Given the description of an element on the screen output the (x, y) to click on. 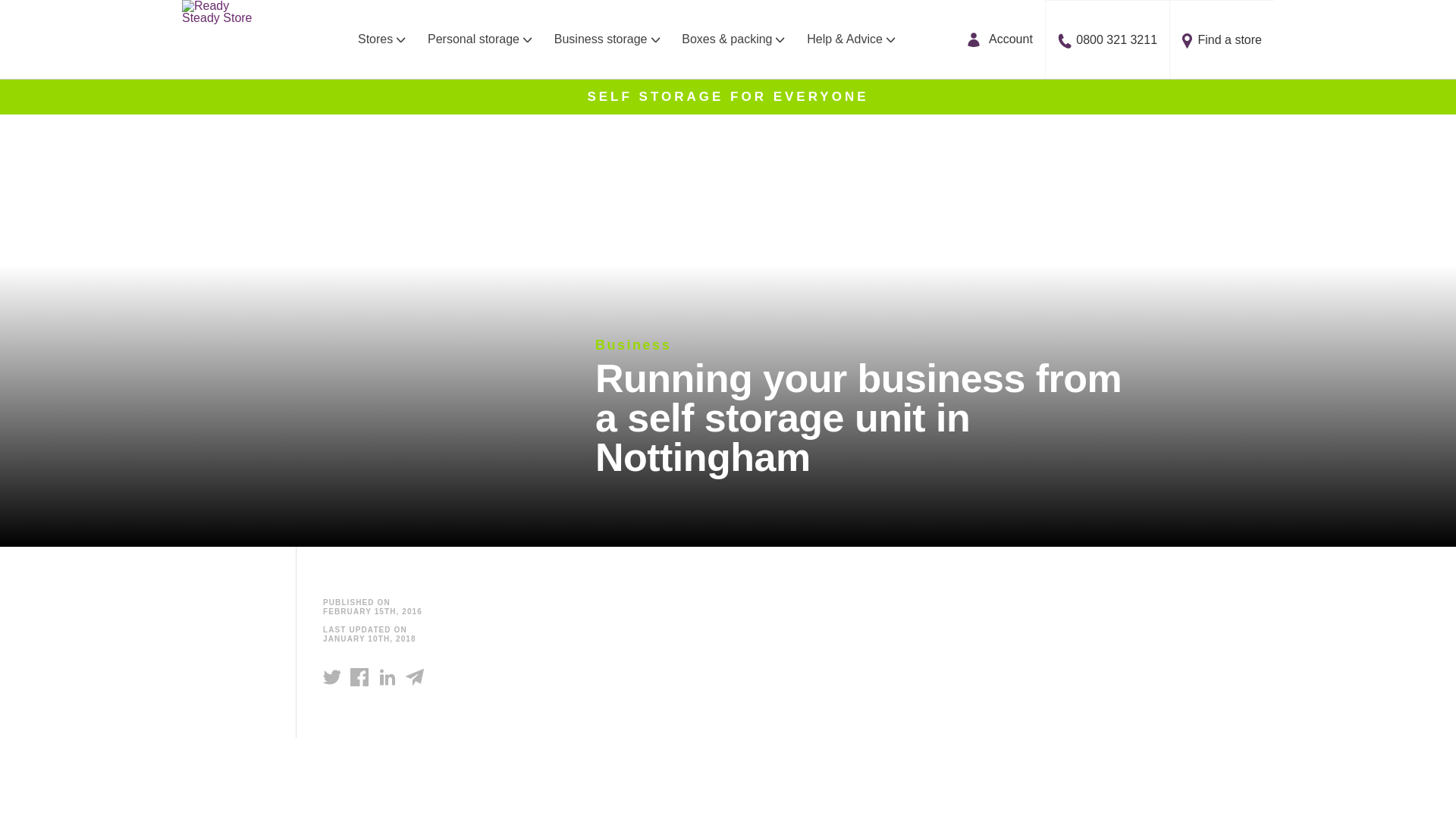
Business storage (607, 39)
linkedin (387, 677)
twitter (331, 676)
facebook (359, 677)
Stores (377, 39)
Personal storage (479, 39)
